Given the description of an element on the screen output the (x, y) to click on. 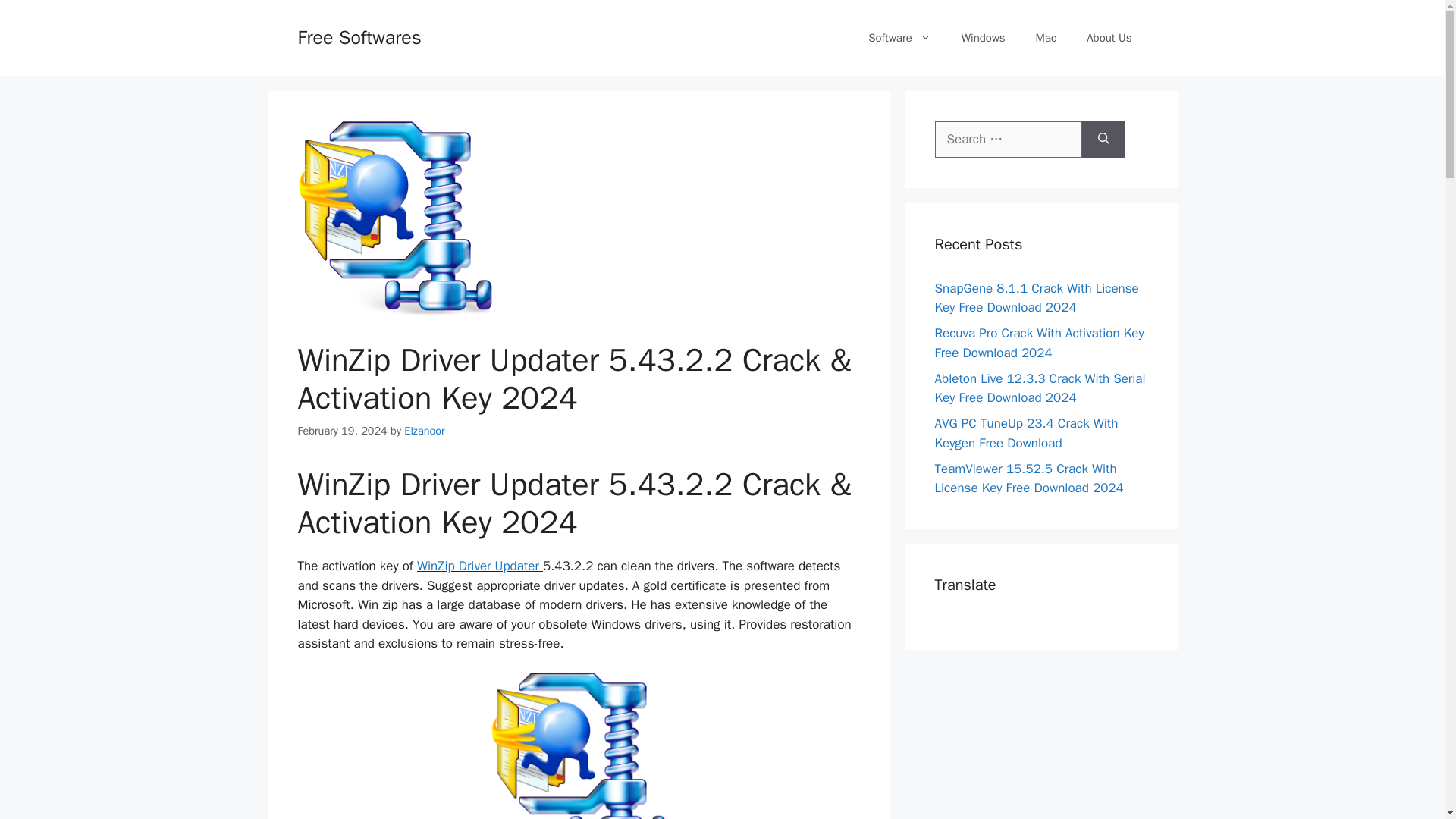
View all posts by Elzanoor (424, 430)
AVG PC TuneUp 23.4 Crack With Keygen Free Download (1026, 433)
Software (899, 37)
Free Softwares (358, 37)
Recuva Pro Crack With Activation Key Free Download 2024 (1038, 343)
Search for: (1007, 139)
WinZip Driver Updater (477, 565)
Windows (983, 37)
WinZip Driver Updater Crack  (577, 745)
About Us (1109, 37)
SnapGene 8.1.1 Crack With License Key Free Download 2024 (1036, 298)
TeamViewer 15.52.5 Crack With License Key Free Download 2024 (1028, 478)
Mac (1045, 37)
Ableton Live 12.3.3 Crack With Serial Key Free Download 2024 (1039, 387)
Elzanoor (424, 430)
